Given the description of an element on the screen output the (x, y) to click on. 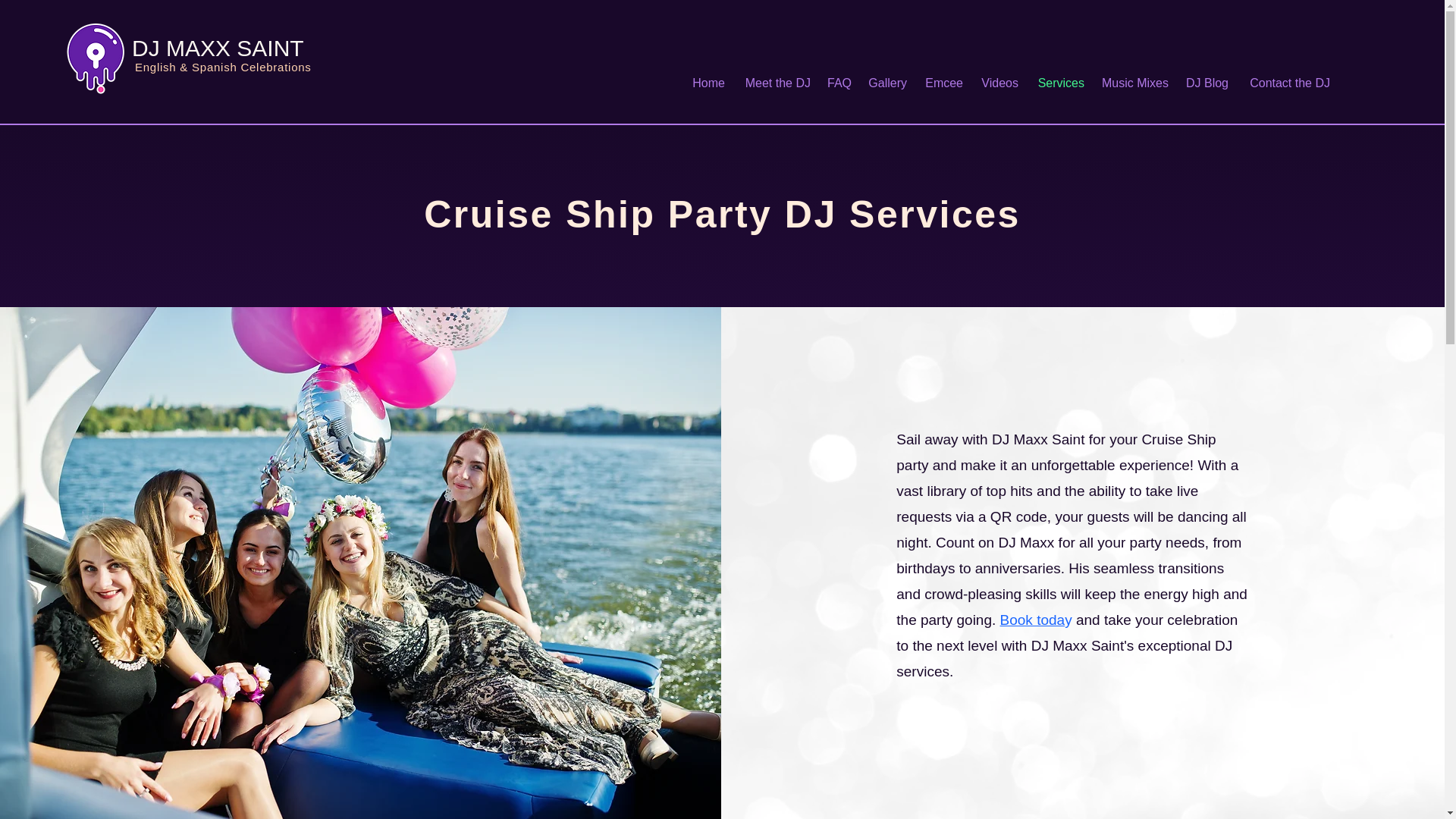
Services (1059, 83)
Home (706, 83)
Gallery (886, 83)
Music Mixes (1134, 83)
FAQ (838, 83)
DJ Blog (1206, 83)
Videos (998, 83)
Contact the DJ (1287, 83)
Book today  (1037, 619)
DJ MAXX SAINT (218, 48)
